Given the description of an element on the screen output the (x, y) to click on. 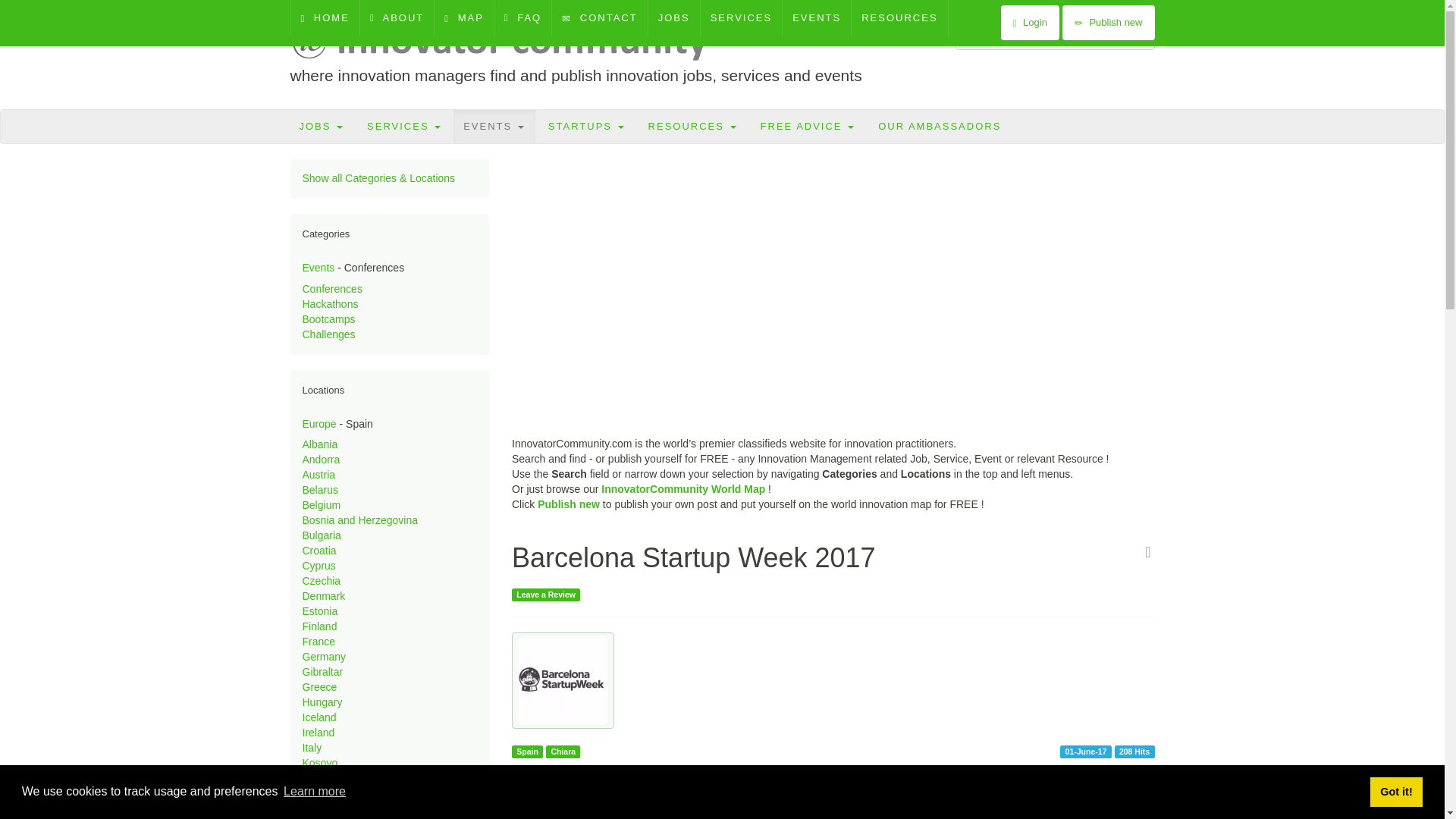
Innovator Community (505, 41)
JOBS (673, 18)
Publish new (1108, 22)
innovation-services (403, 126)
HOME (325, 18)
Got it! (1396, 791)
CONTACT (598, 18)
innovation-jobs (321, 126)
RESOURCES (899, 18)
ABOUT (396, 18)
FAQ (523, 18)
SERVICES (403, 126)
JOBS (321, 126)
EVENTS (816, 18)
MAP (463, 18)
